Given the description of an element on the screen output the (x, y) to click on. 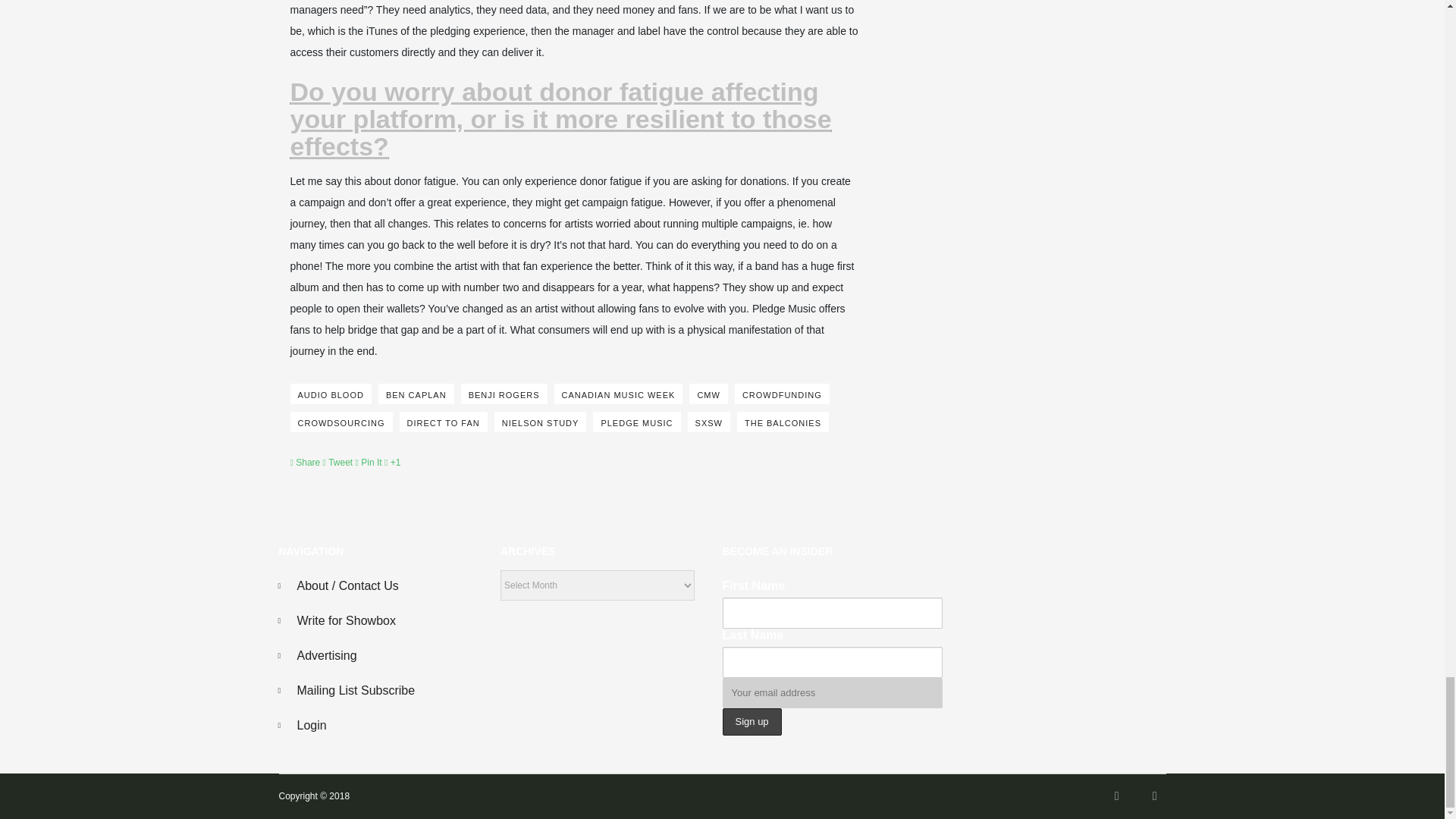
Sign up (751, 722)
